Given the description of an element on the screen output the (x, y) to click on. 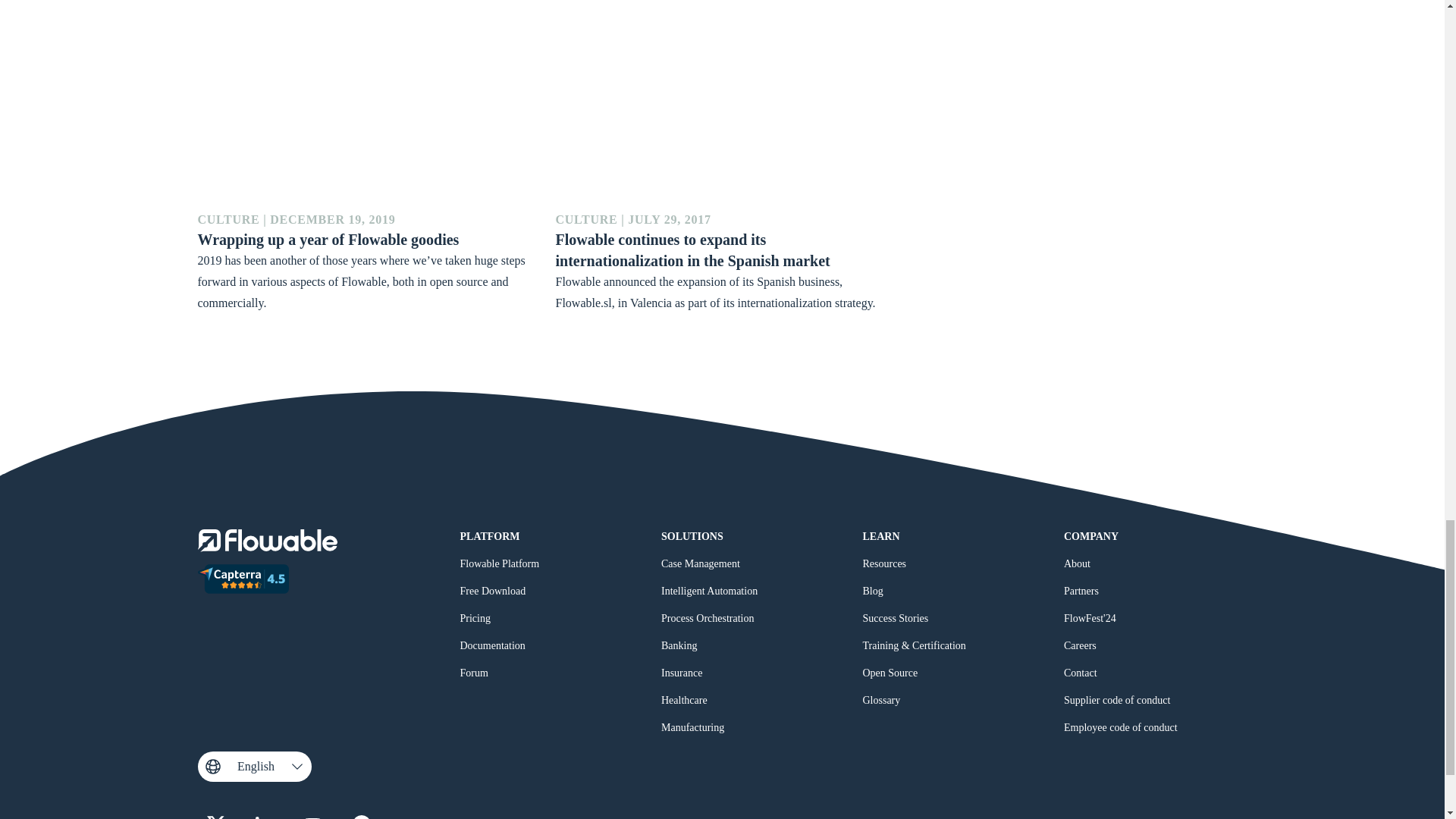
Case Management (700, 567)
Forum (473, 677)
English (253, 766)
Intelligent Automation (709, 595)
Pricing (474, 622)
Free Download (492, 595)
Documentation (492, 649)
Flowable Platform (499, 567)
